Given the description of an element on the screen output the (x, y) to click on. 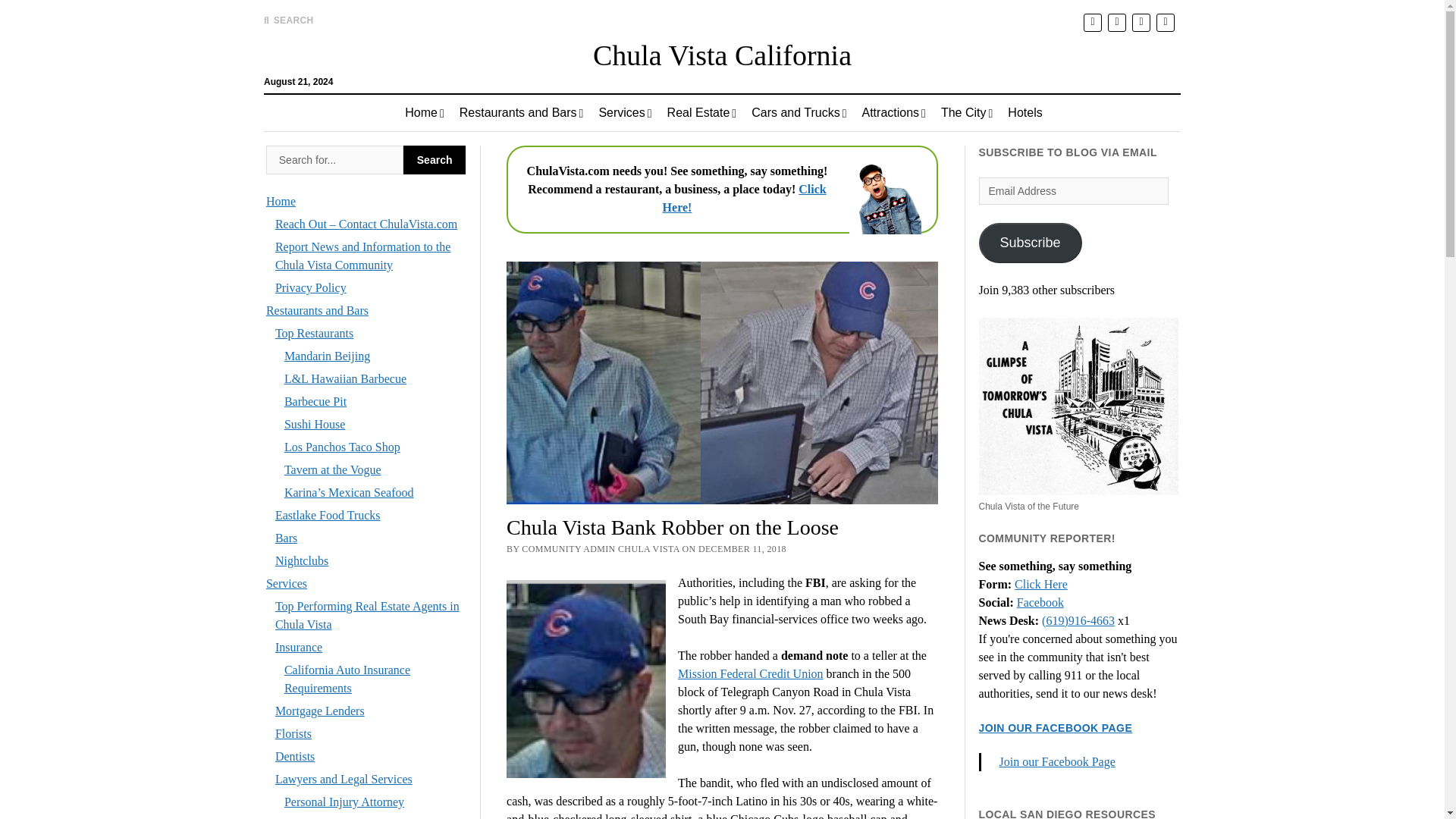
Search (334, 159)
SEARCH (288, 20)
Chula Vista California (721, 55)
Home (424, 113)
Restaurants and Bars (520, 113)
Services (625, 113)
Search (945, 129)
Search (434, 159)
Search (434, 159)
